Given the description of an element on the screen output the (x, y) to click on. 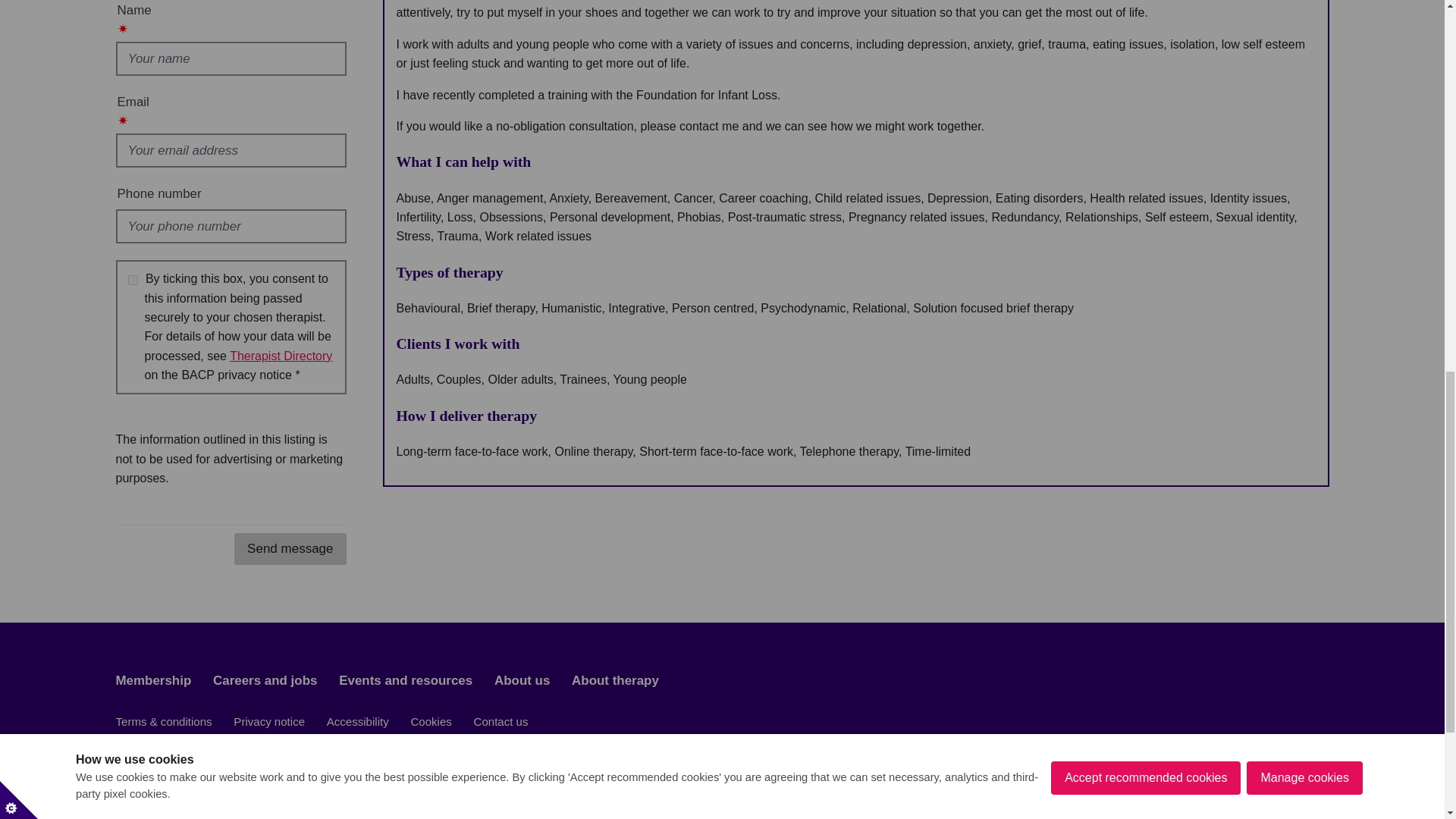
Manage cookies (1304, 9)
Accept recommended cookies (1145, 17)
Privacy (280, 355)
true (132, 280)
